Given the description of an element on the screen output the (x, y) to click on. 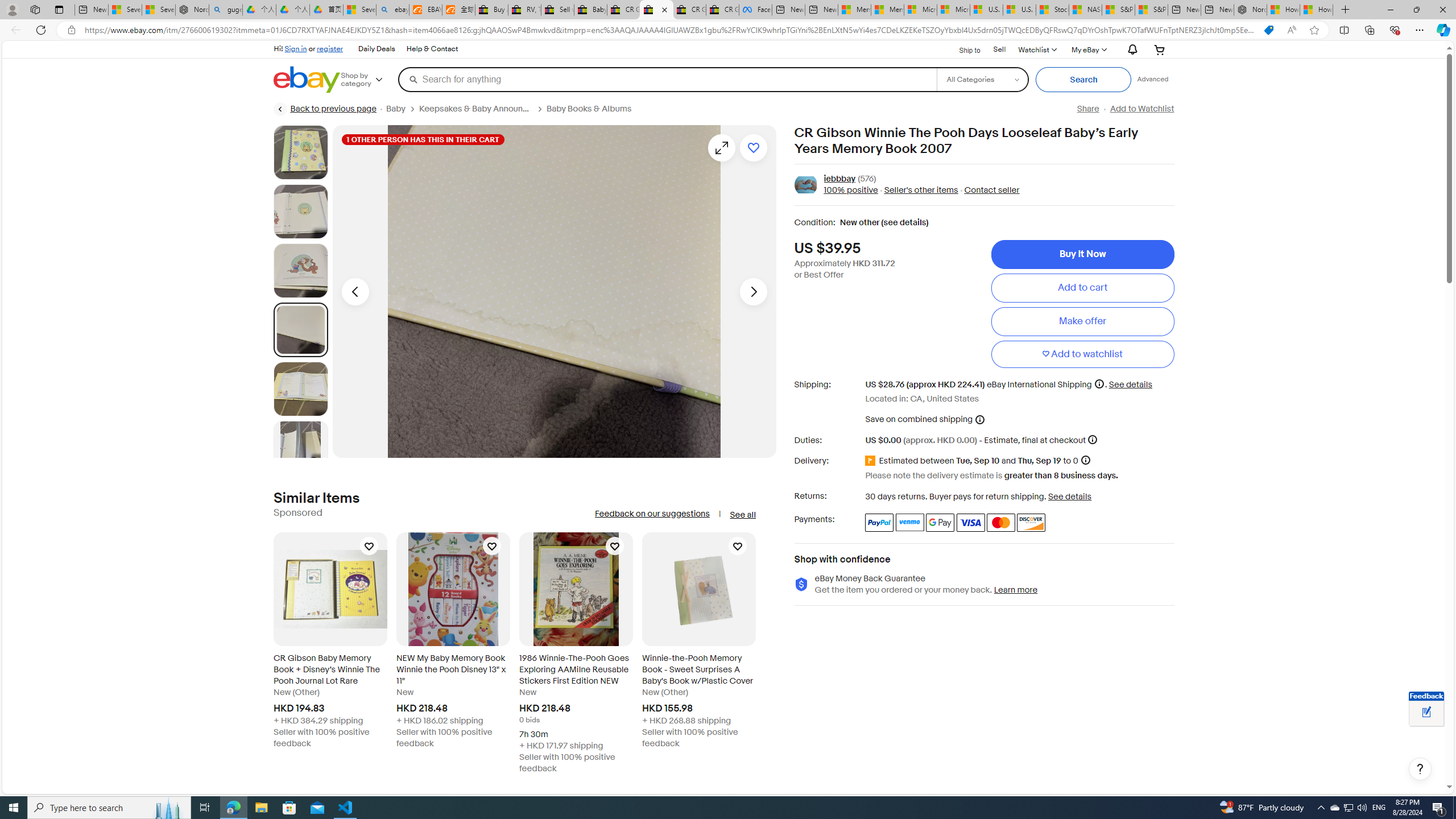
Delivery alert flag (871, 460)
Advanced Search (1152, 78)
Picture 2 of 22 (300, 211)
Google Pay (940, 521)
(576) (866, 179)
Picture 3 of 22 (300, 270)
Picture 3 of 22 (300, 270)
Picture 5 of 22 (300, 388)
Class: ux-action (804, 184)
Picture 1 of 22 (300, 152)
Picture 5 of 22 (300, 388)
See details for shipping (1130, 383)
